Given the description of an element on the screen output the (x, y) to click on. 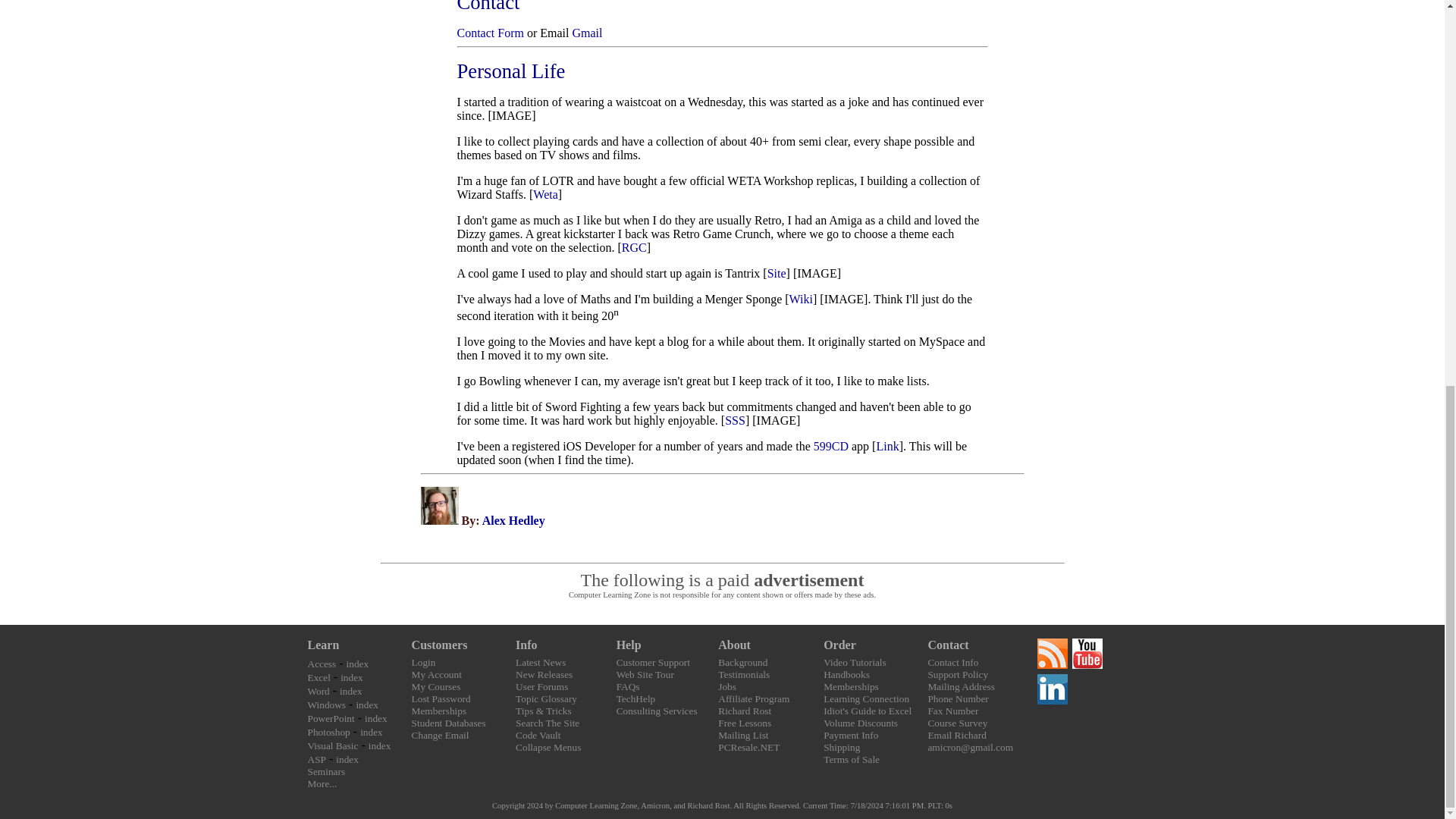
index (357, 663)
Access (321, 663)
RGC (633, 246)
index (351, 677)
Alex Hedley (512, 520)
Contact Form (489, 32)
index (350, 690)
Gmail (587, 32)
599CD (830, 445)
Windows (326, 704)
Wiki (800, 298)
Learn (323, 644)
Excel (318, 677)
Word (318, 690)
PowerPoint (331, 717)
